Given the description of an element on the screen output the (x, y) to click on. 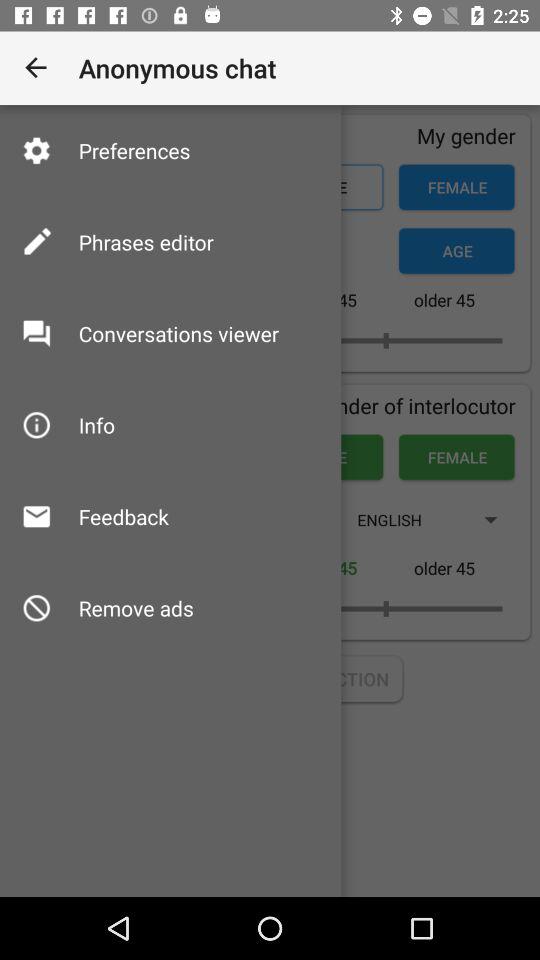
flip until the info item (96, 424)
